Given the description of an element on the screen output the (x, y) to click on. 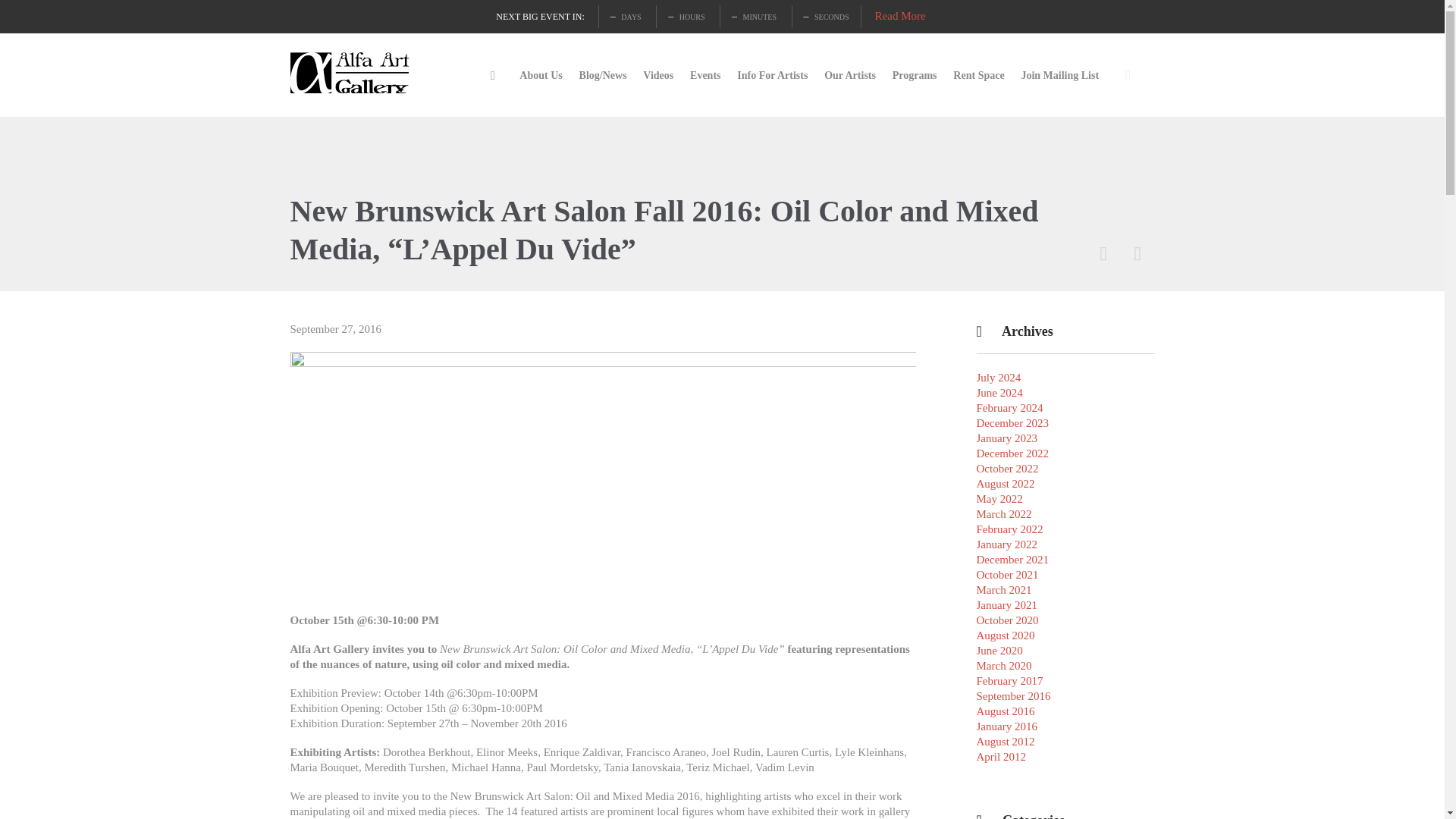
Programs (914, 76)
Rent Space (978, 76)
Events (705, 76)
Alfa Art Gallery (349, 75)
About Us (541, 76)
Info For Artists (771, 76)
Videos (658, 76)
Join Mailing List (1059, 76)
